Given the description of an element on the screen output the (x, y) to click on. 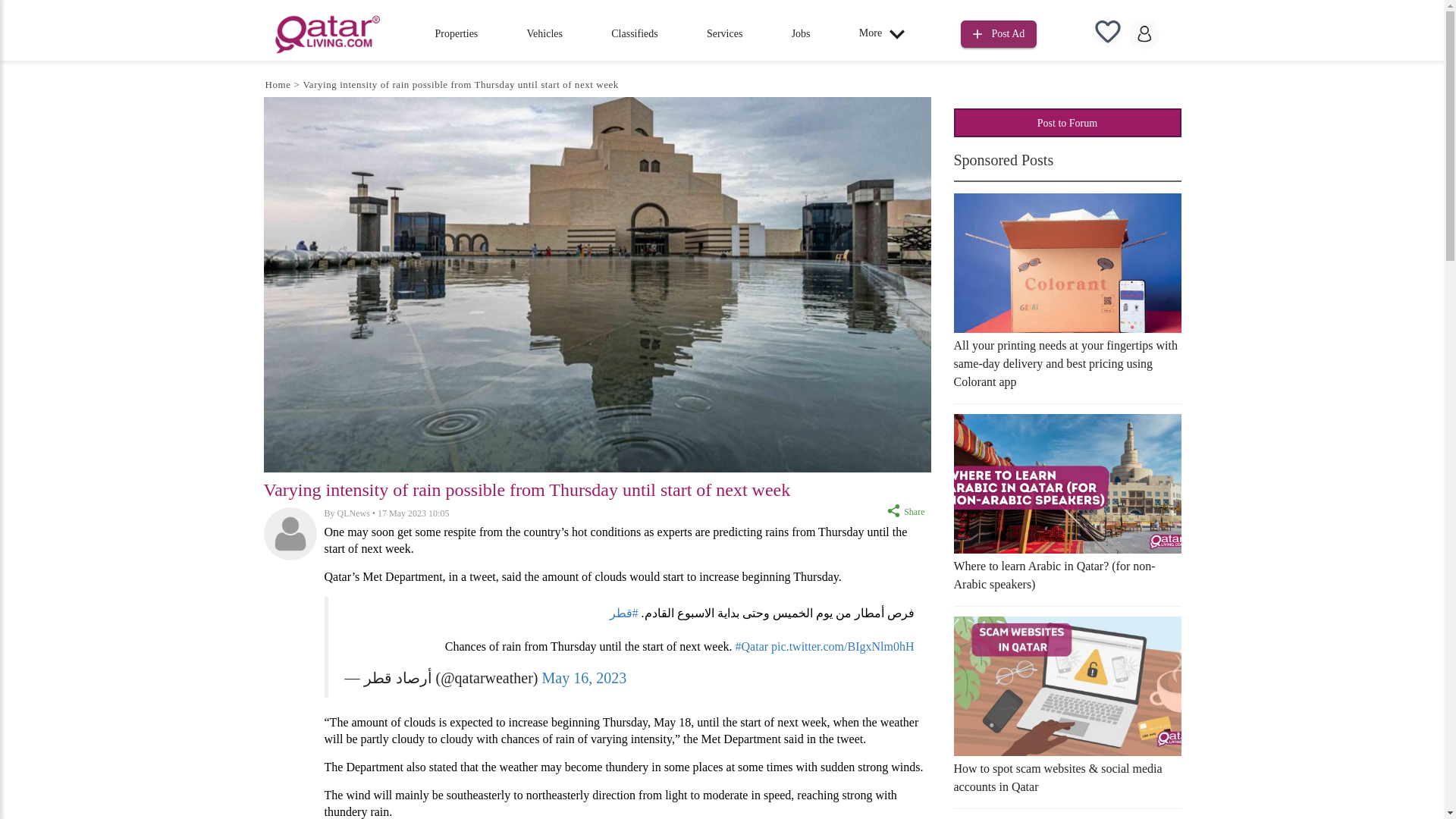
Classifieds (634, 33)
Post Ad (998, 34)
More (885, 33)
Post Ad (998, 32)
View user profile. (353, 512)
